Given the description of an element on the screen output the (x, y) to click on. 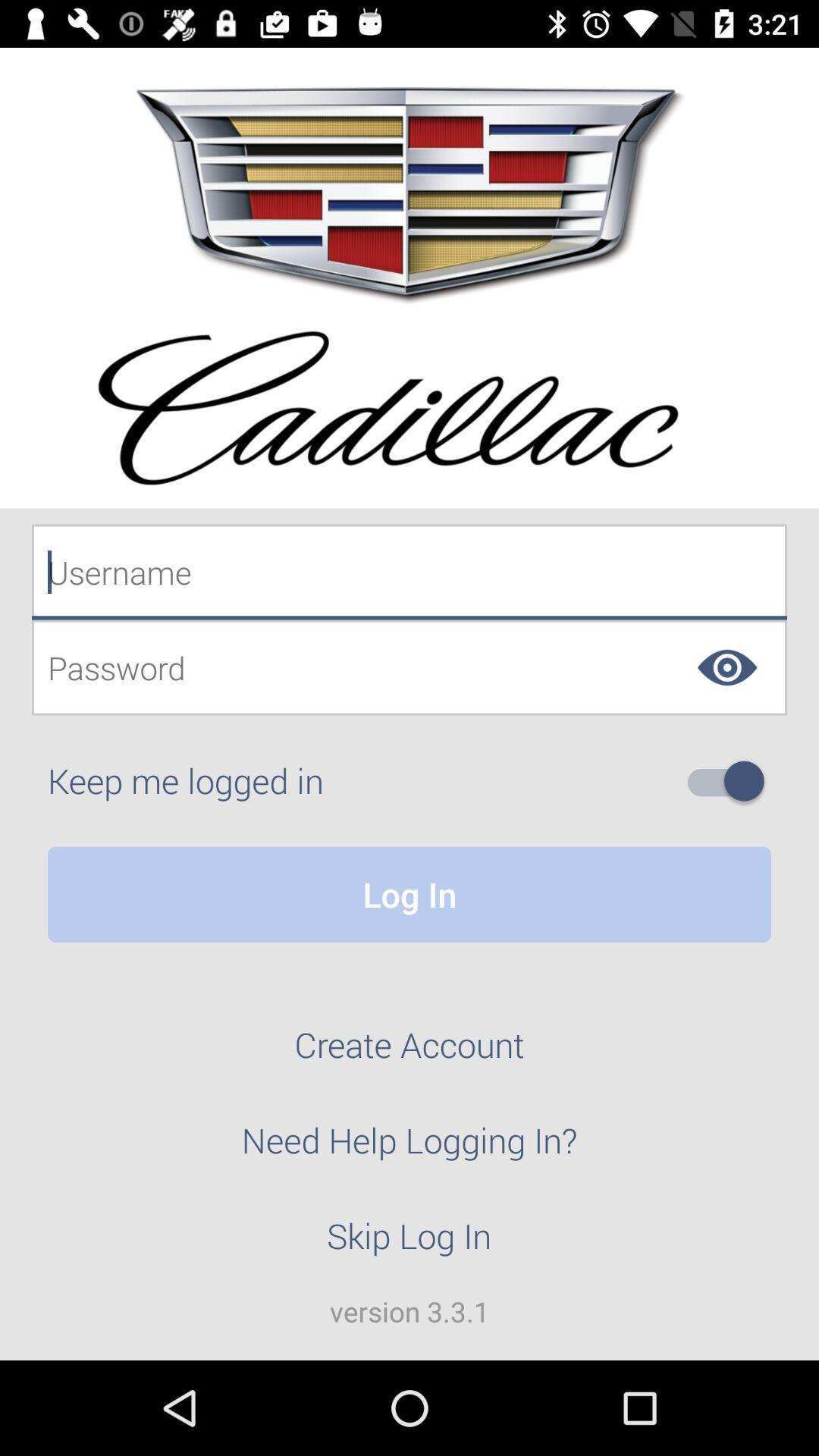
swipe to the create account (409, 1053)
